Given the description of an element on the screen output the (x, y) to click on. 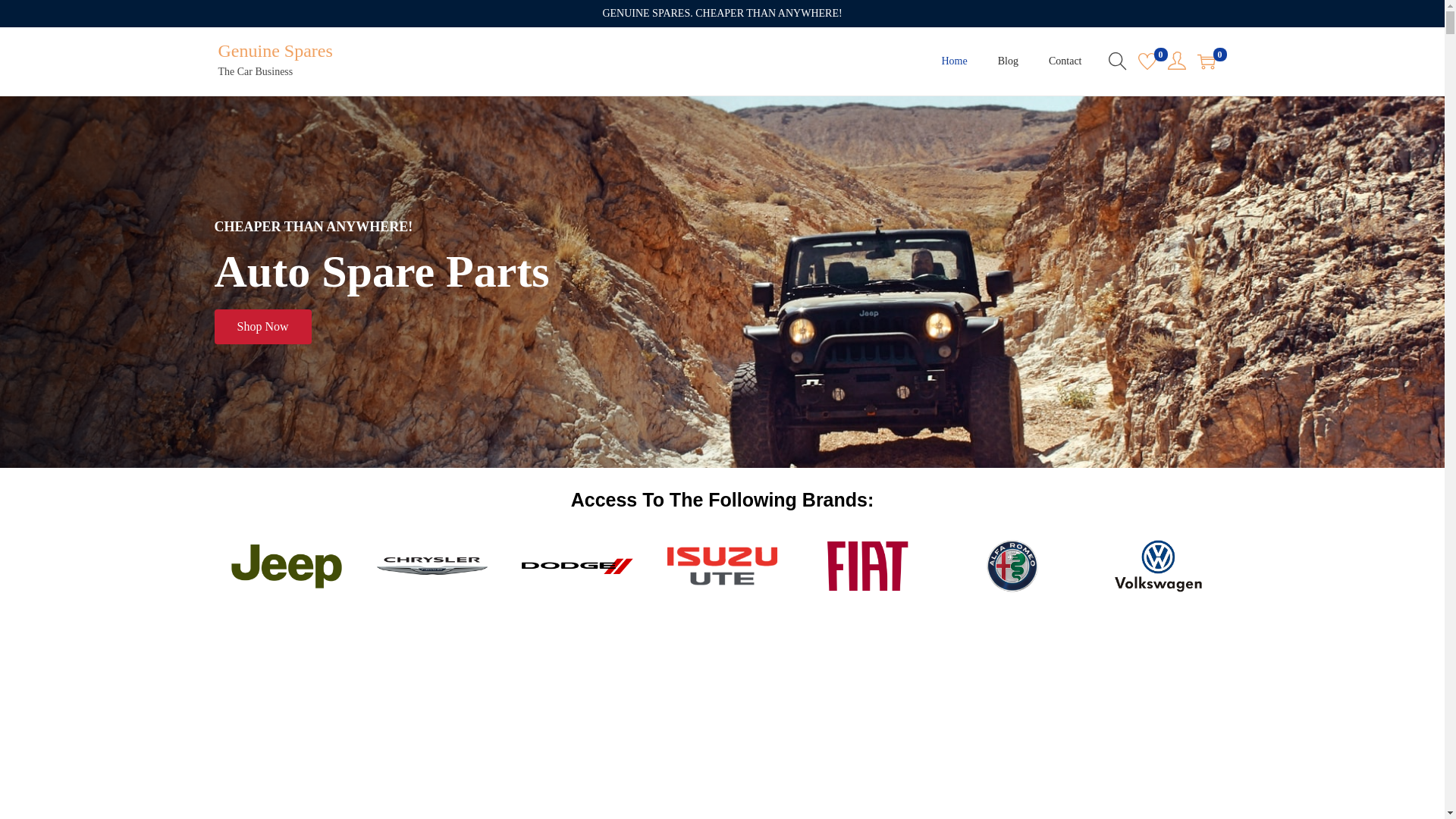
Shop Now Element type: text (261, 326)
Blog Element type: text (1007, 61)
Genuine Spares Element type: text (275, 50)
Search Element type: text (950, 428)
Contact Element type: text (1065, 61)
Home Element type: text (954, 61)
0 Element type: text (1146, 61)
0 Element type: text (1205, 61)
